Given the description of an element on the screen output the (x, y) to click on. 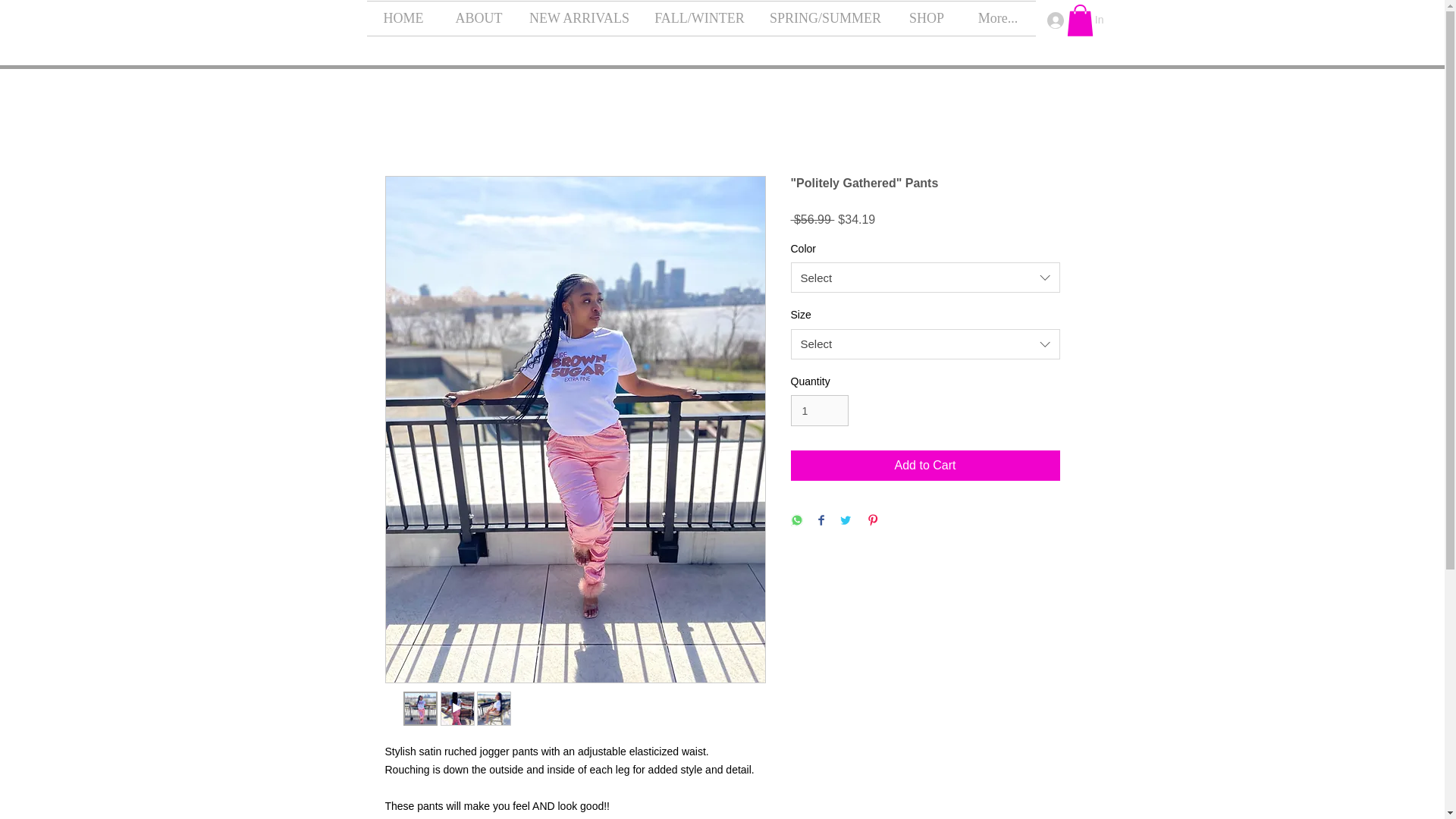
NEW ARRIVALS (578, 18)
HOME (403, 18)
SHOP (926, 18)
ABOUT (477, 18)
1 (818, 409)
